Given the description of an element on the screen output the (x, y) to click on. 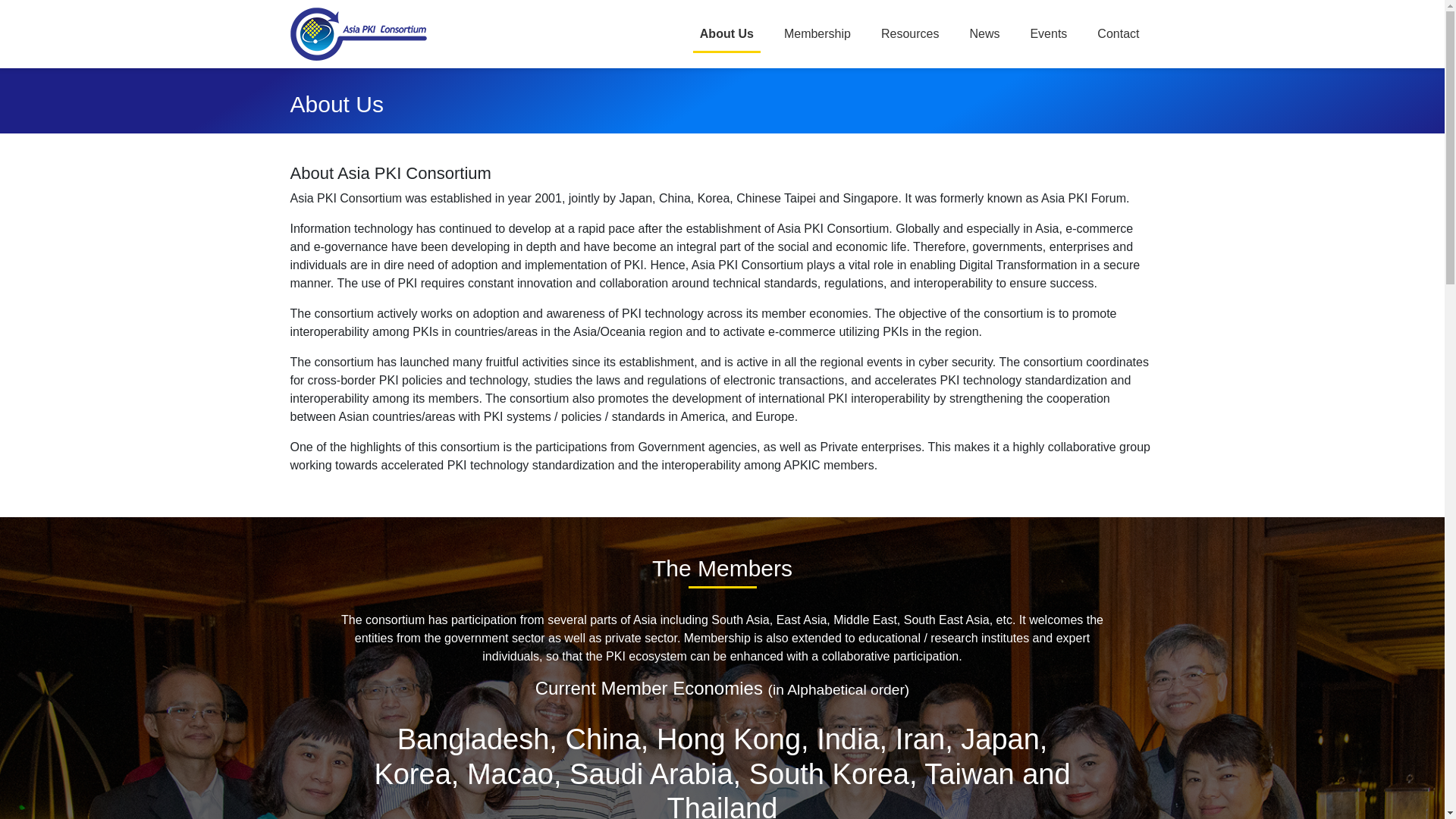
About Us (726, 33)
Resources (909, 33)
Events (1047, 33)
Membership (817, 33)
Contact (1117, 33)
News (983, 33)
